Given the description of an element on the screen output the (x, y) to click on. 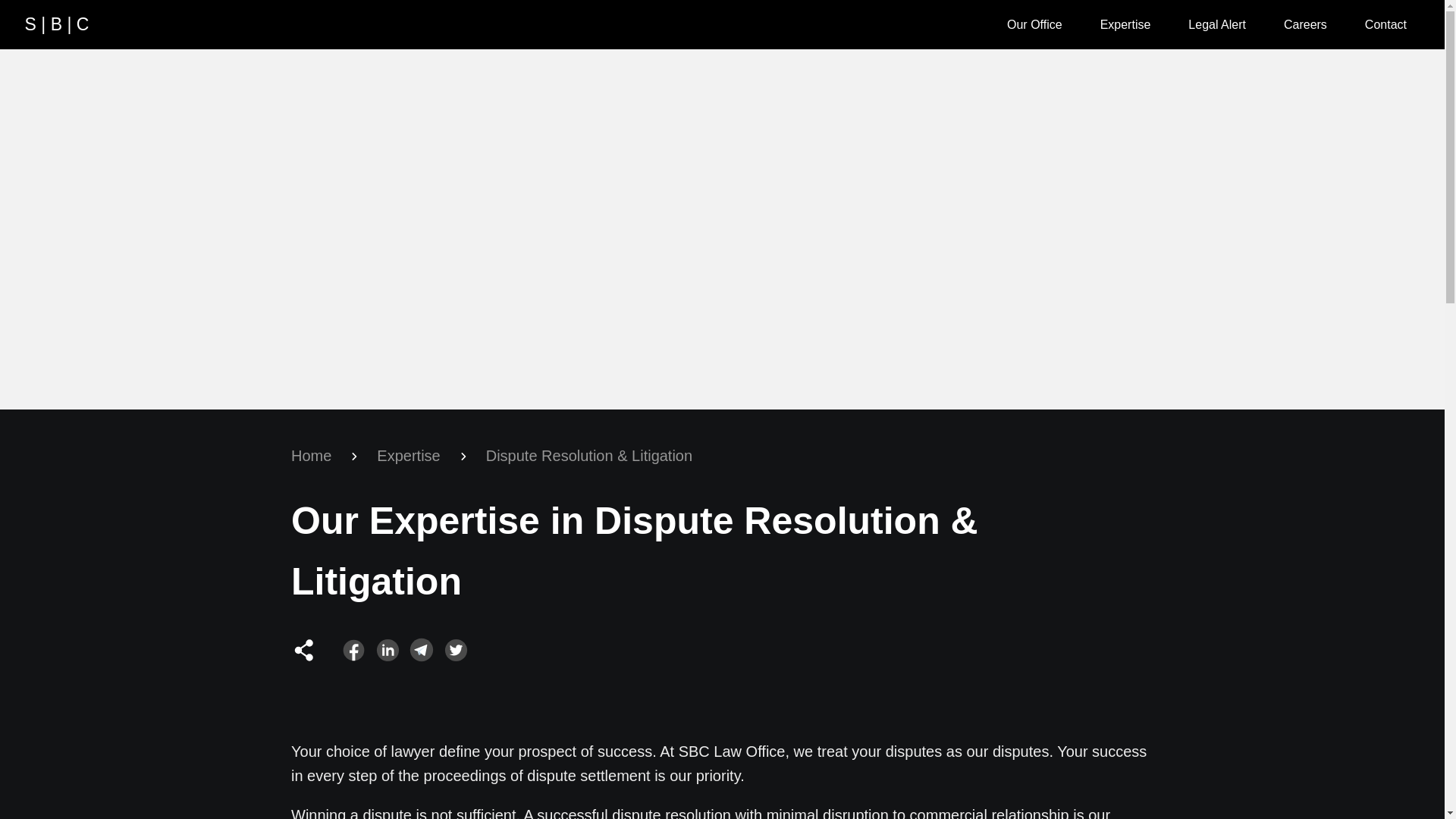
Legal Alert (1217, 24)
Expertise (1125, 24)
Careers (1305, 24)
Contact (1385, 24)
Expertise (408, 456)
Our Office (1034, 24)
Home (311, 456)
